Given the description of an element on the screen output the (x, y) to click on. 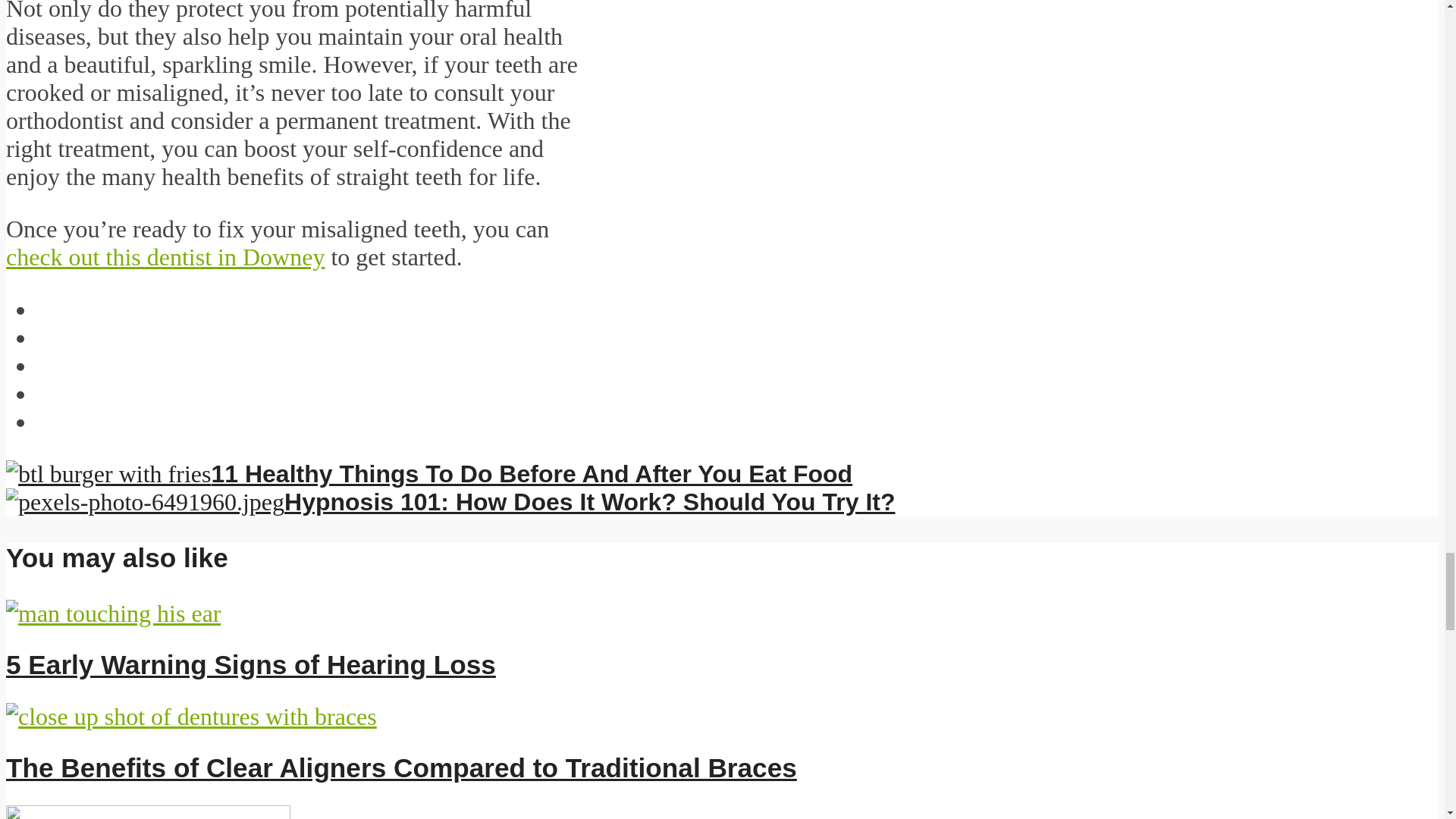
5 Early Warning Signs of Hearing Loss (250, 664)
5 Early Warning Signs of Hearing Loss (113, 613)
5 Early Warning Signs of Hearing Loss (250, 664)
11 Healthy Things To Do Before And After You Eat Food (428, 473)
Hypnosis 101: How Does It Work? Should You Try It? (450, 501)
check out this dentist in Downey (164, 257)
